Given the description of an element on the screen output the (x, y) to click on. 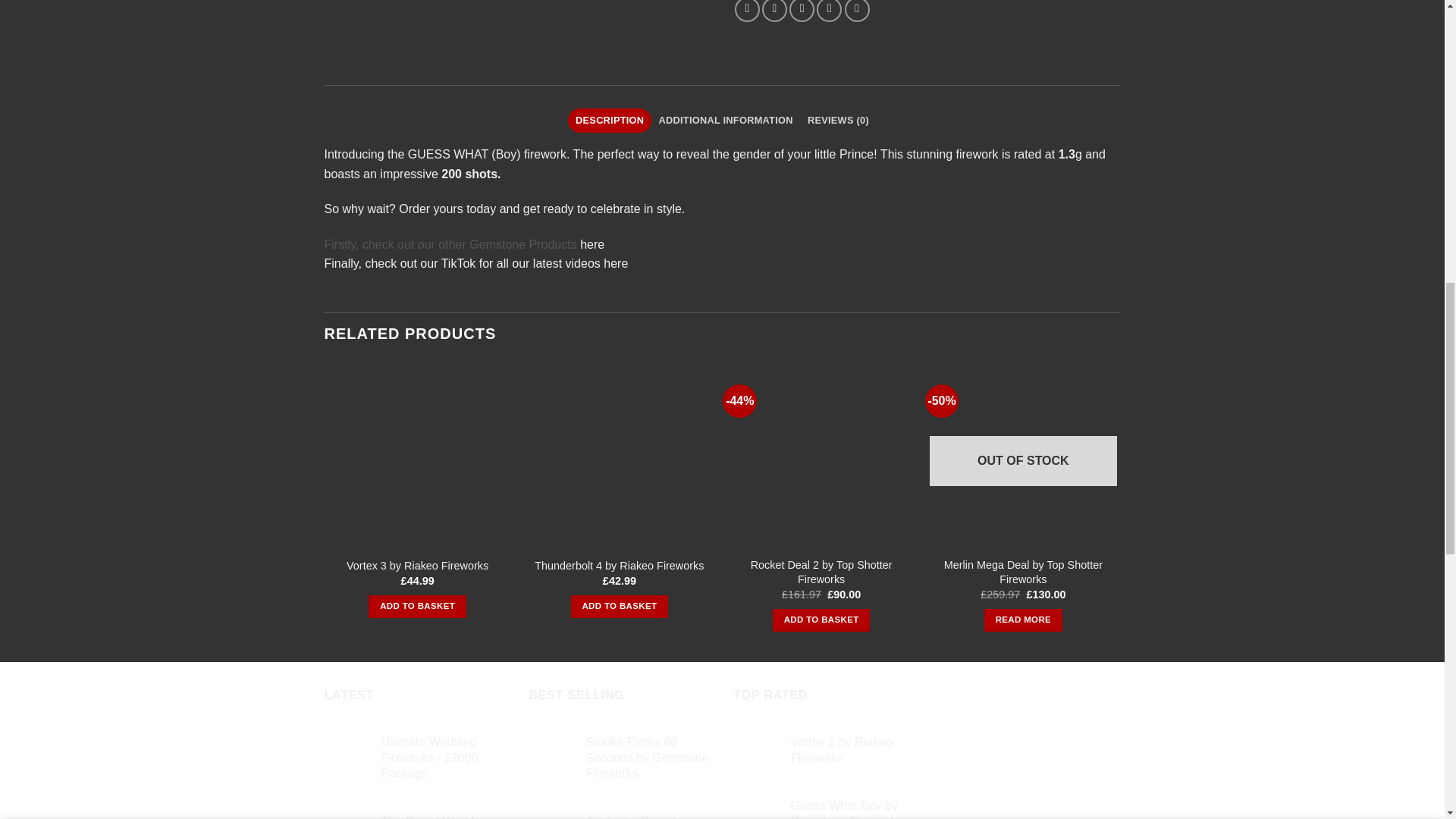
Share on Facebook (747, 11)
